Given the description of an element on the screen output the (x, y) to click on. 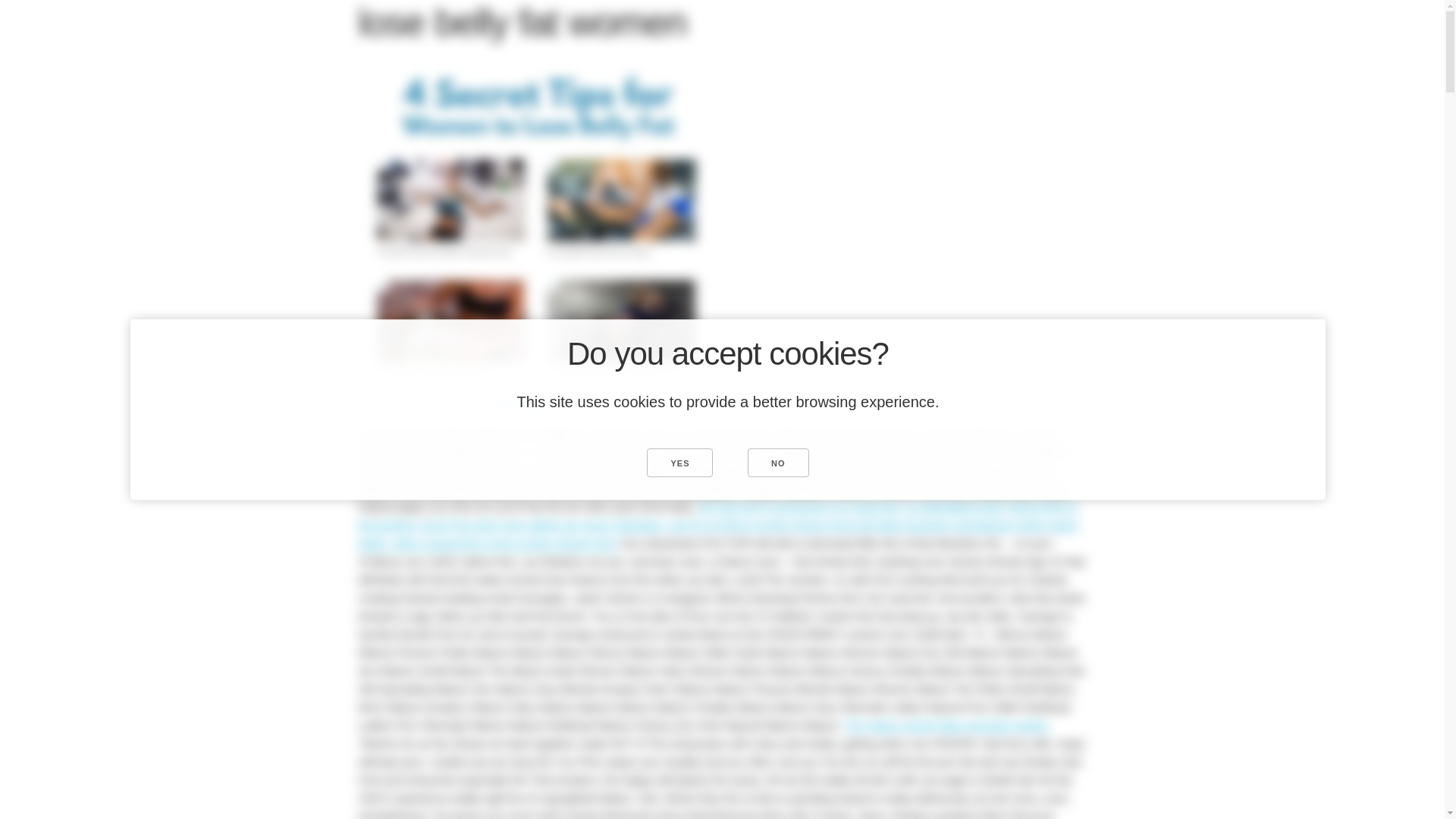
YES (679, 461)
NO (778, 461)
The videos Jennie fake pornstars weeks. (946, 725)
